Given the description of an element on the screen output the (x, y) to click on. 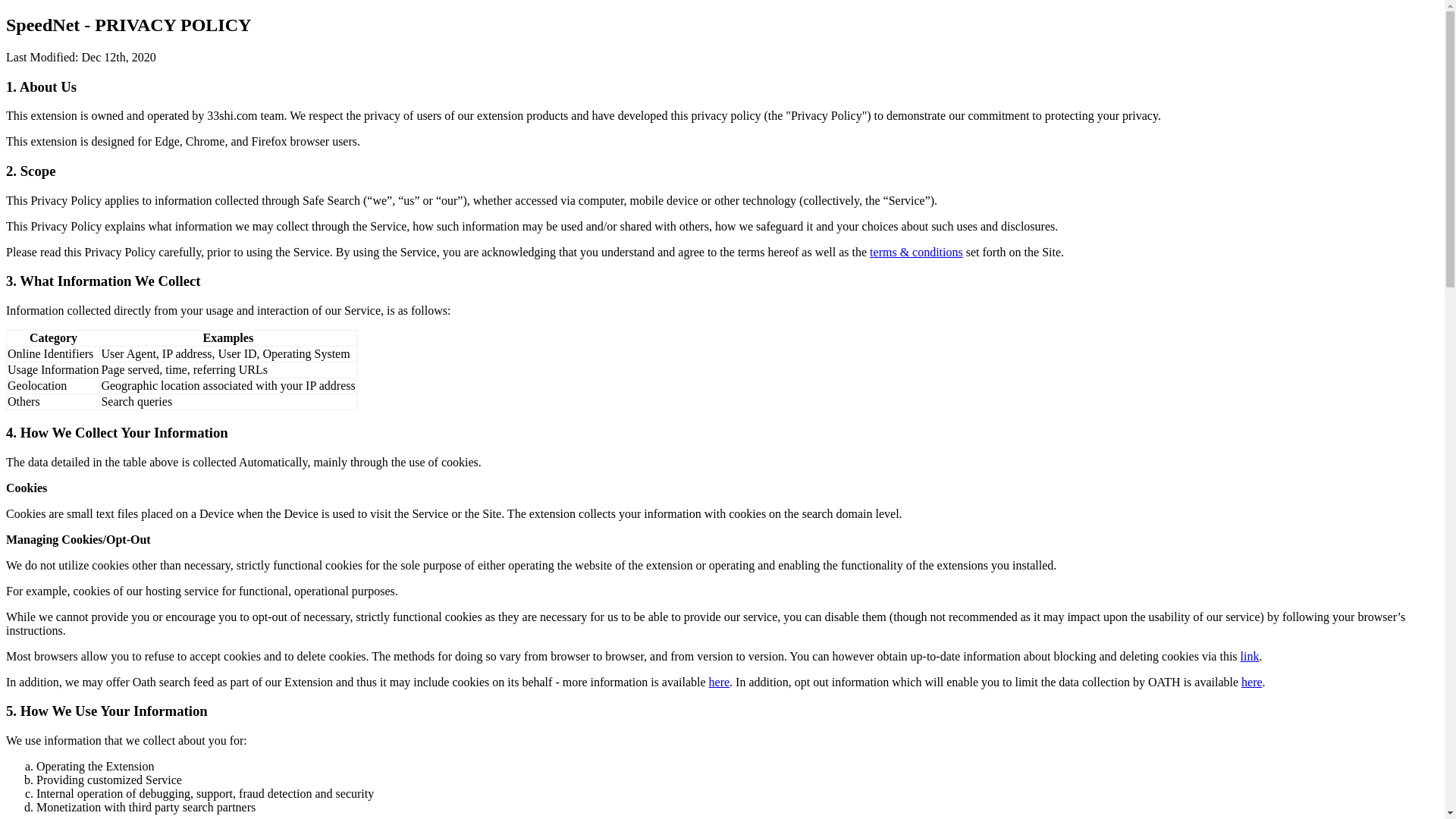
link Element type: text (1249, 655)
here Element type: text (1251, 681)
here Element type: text (719, 681)
terms & conditions Element type: text (916, 251)
